Given the description of an element on the screen output the (x, y) to click on. 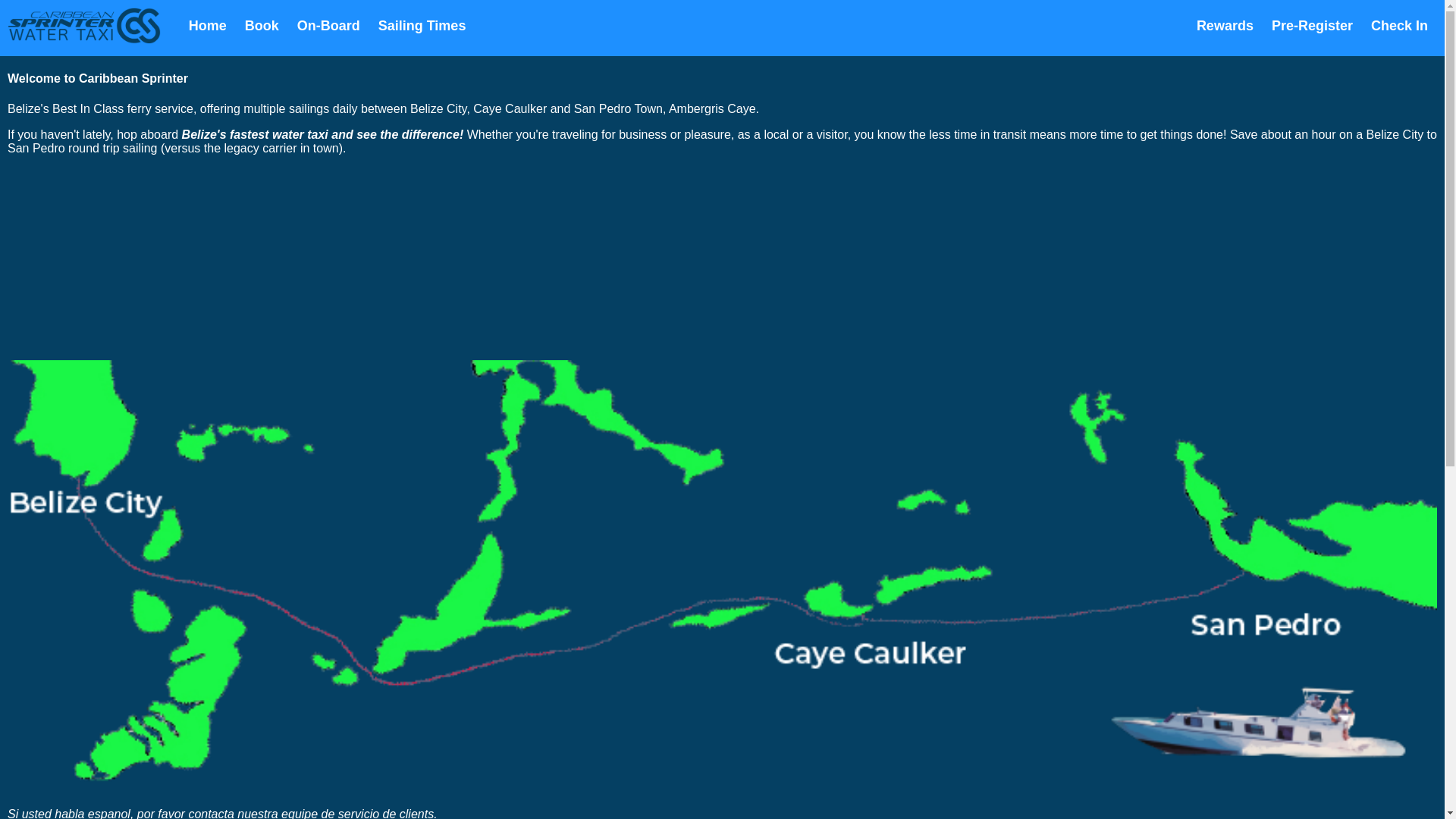
Book Element type: text (261, 25)
Pre-Register Element type: text (1311, 25)
Check In Element type: text (1399, 25)
On-Board Element type: text (328, 25)
Rewards Element type: text (1224, 25)
Home Element type: text (207, 25)
Sailing Times Element type: text (422, 25)
